Given the description of an element on the screen output the (x, y) to click on. 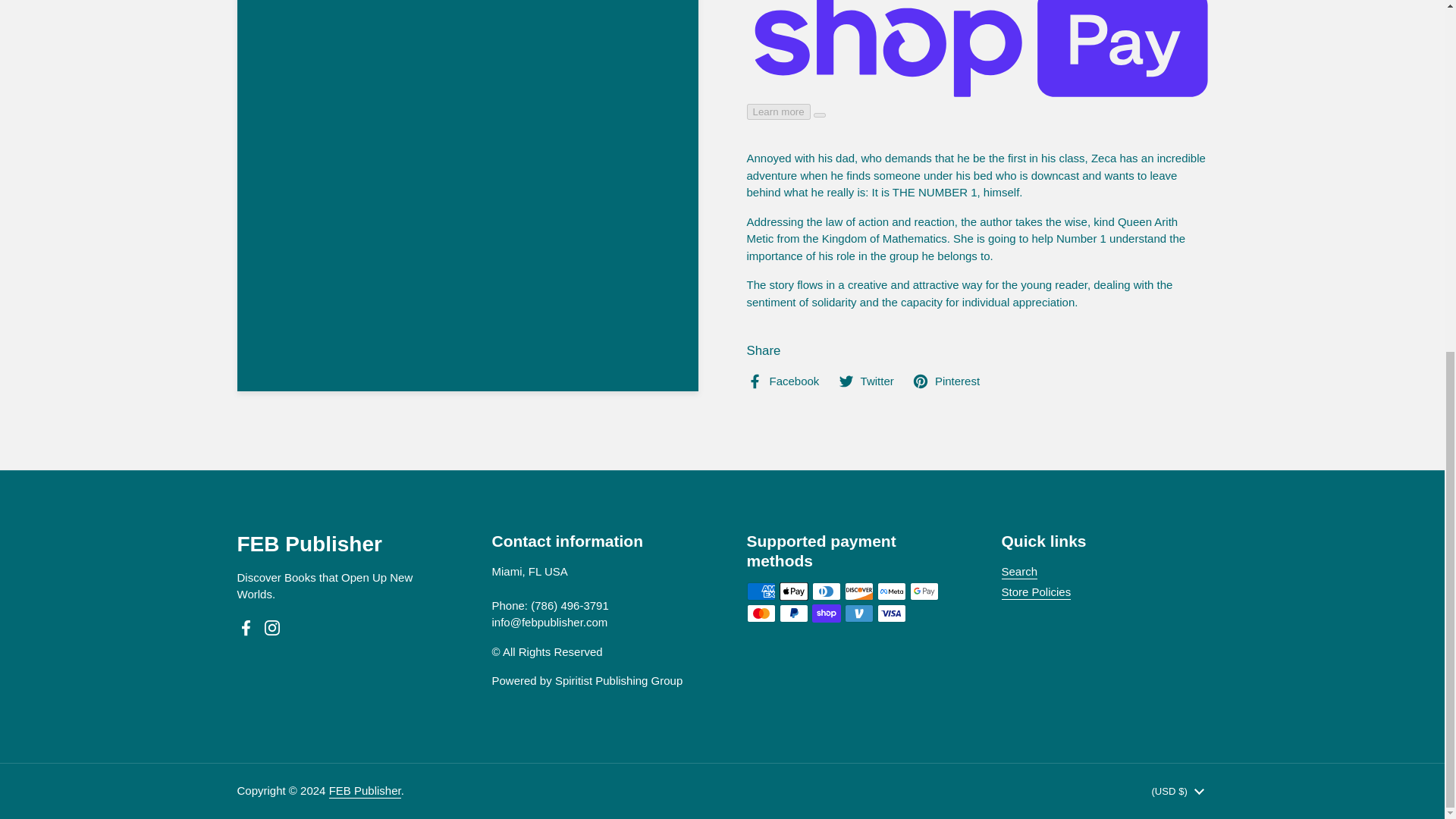
Share on facebook (781, 381)
Pinterest (945, 381)
Share on twitter (865, 381)
Facebook (244, 628)
Instagram (271, 628)
Facebook (781, 381)
Search (1018, 572)
Page 1 (976, 230)
Twitter (865, 381)
Share on pinterest (945, 381)
